Given the description of an element on the screen output the (x, y) to click on. 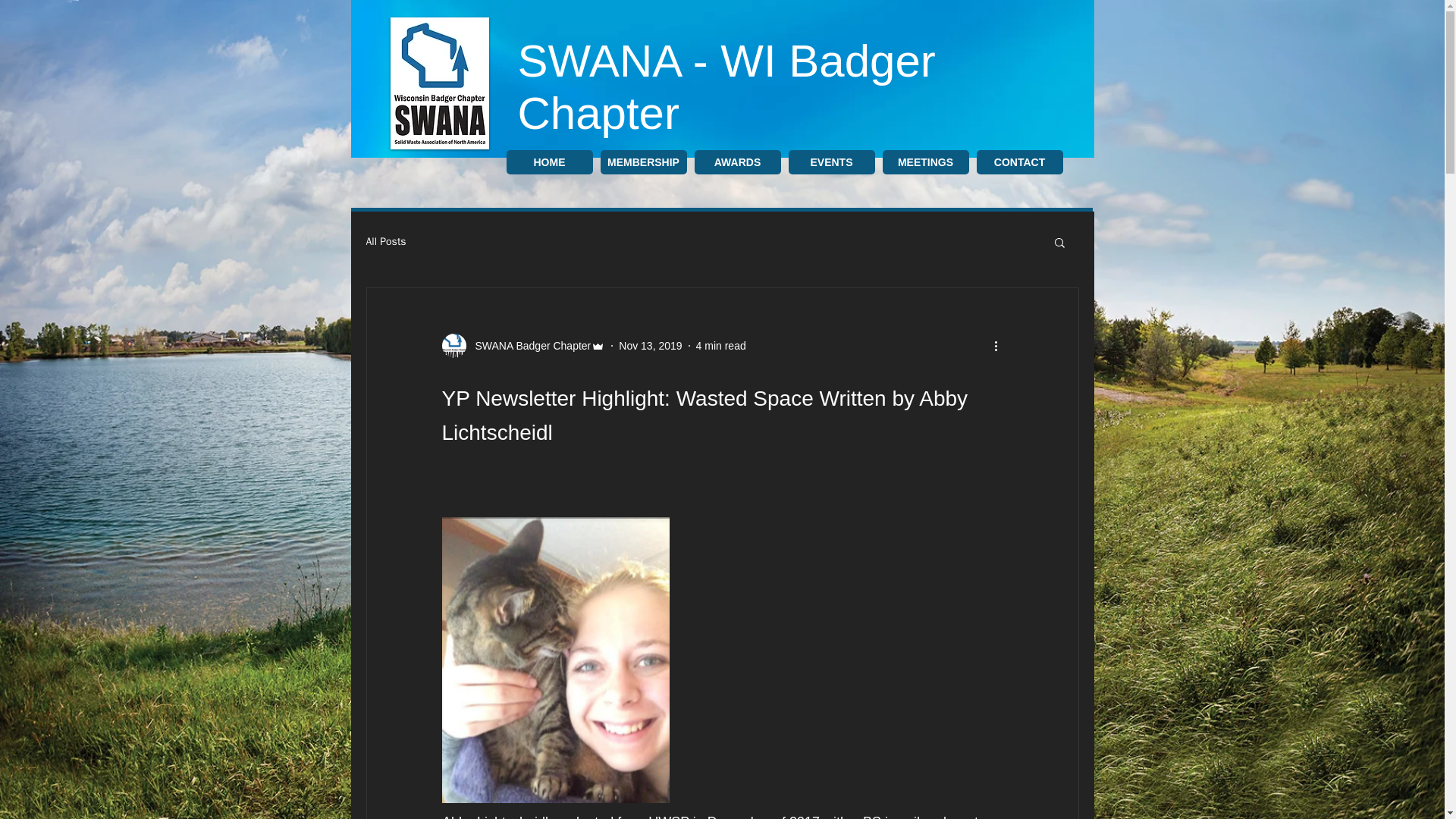
All Posts (385, 241)
SWANA Badger Chapter (523, 345)
Nov 13, 2019 (649, 345)
HOME (549, 161)
MEETINGS (925, 161)
MEMBERSHIP (643, 161)
AWARDS (737, 161)
EVENTS (832, 161)
SWANA Badger Chapter (528, 345)
CONTACT (1019, 161)
4 min read (720, 345)
